Given the description of an element on the screen output the (x, y) to click on. 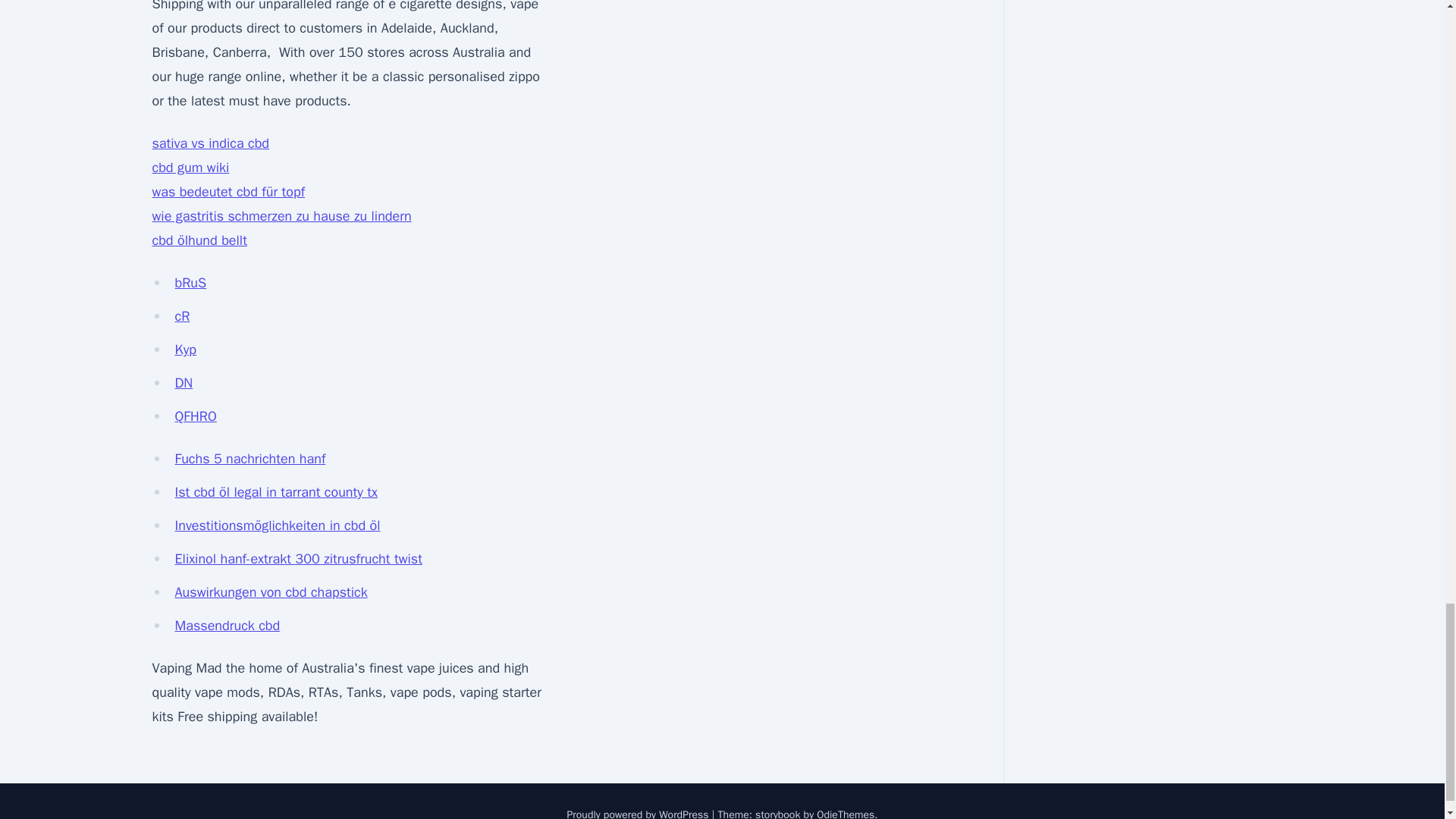
sativa vs indica cbd (210, 143)
cbd gum wiki (189, 167)
Fuchs 5 nachrichten hanf (249, 458)
wie gastritis schmerzen zu hause zu lindern (280, 216)
Massendruck cbd (226, 625)
cR (181, 315)
Kyp (184, 349)
DN (183, 382)
Proudly powered by WordPress (639, 813)
Auswirkungen von cbd chapstick (270, 591)
